Given the description of an element on the screen output the (x, y) to click on. 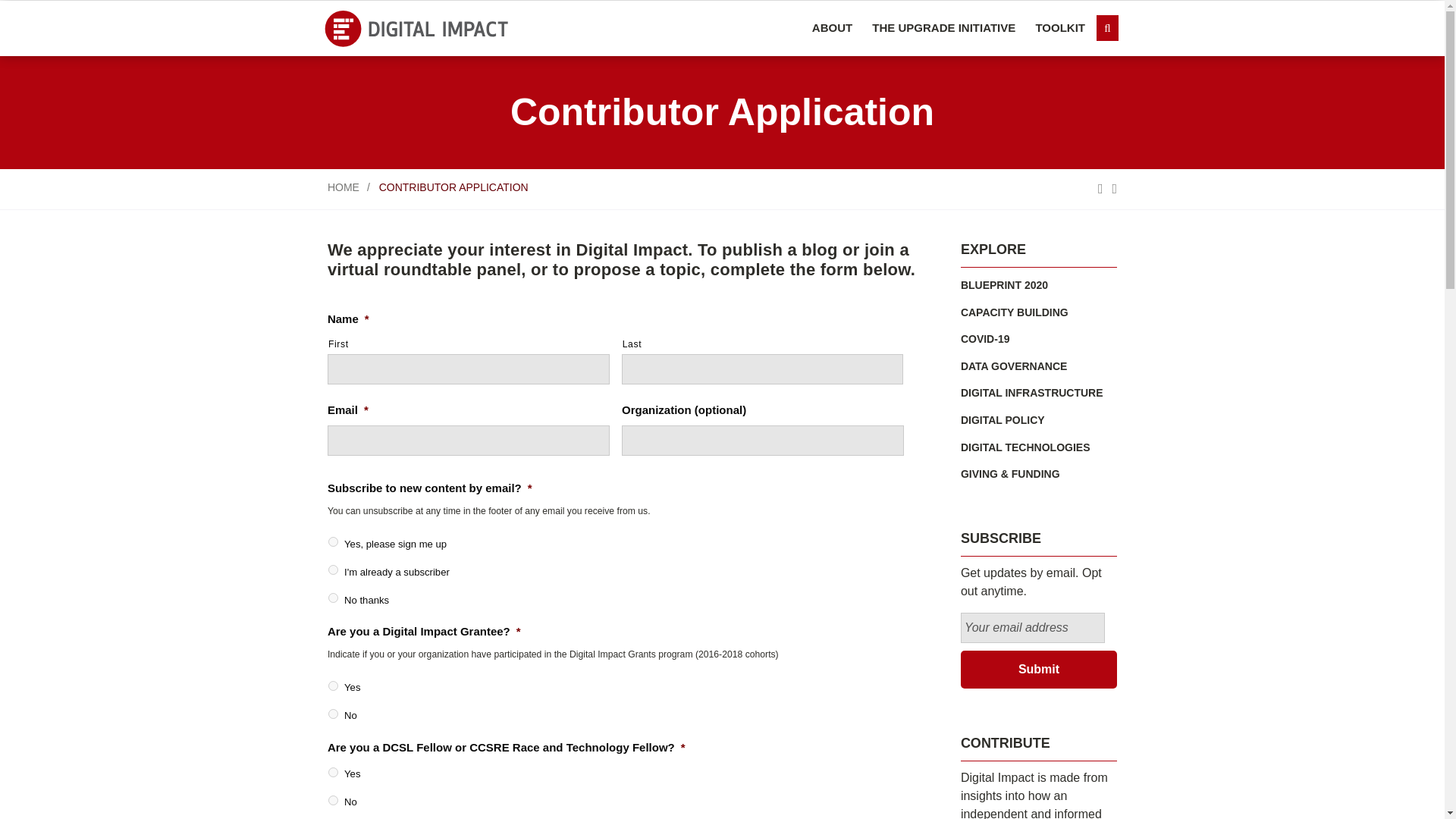
ABOUT (831, 27)
Yes (333, 772)
No (333, 800)
I'm already a subscriber (333, 569)
Yes, please sign me up (333, 542)
No thanks (333, 597)
Yes (333, 685)
No (333, 714)
